Given the description of an element on the screen output the (x, y) to click on. 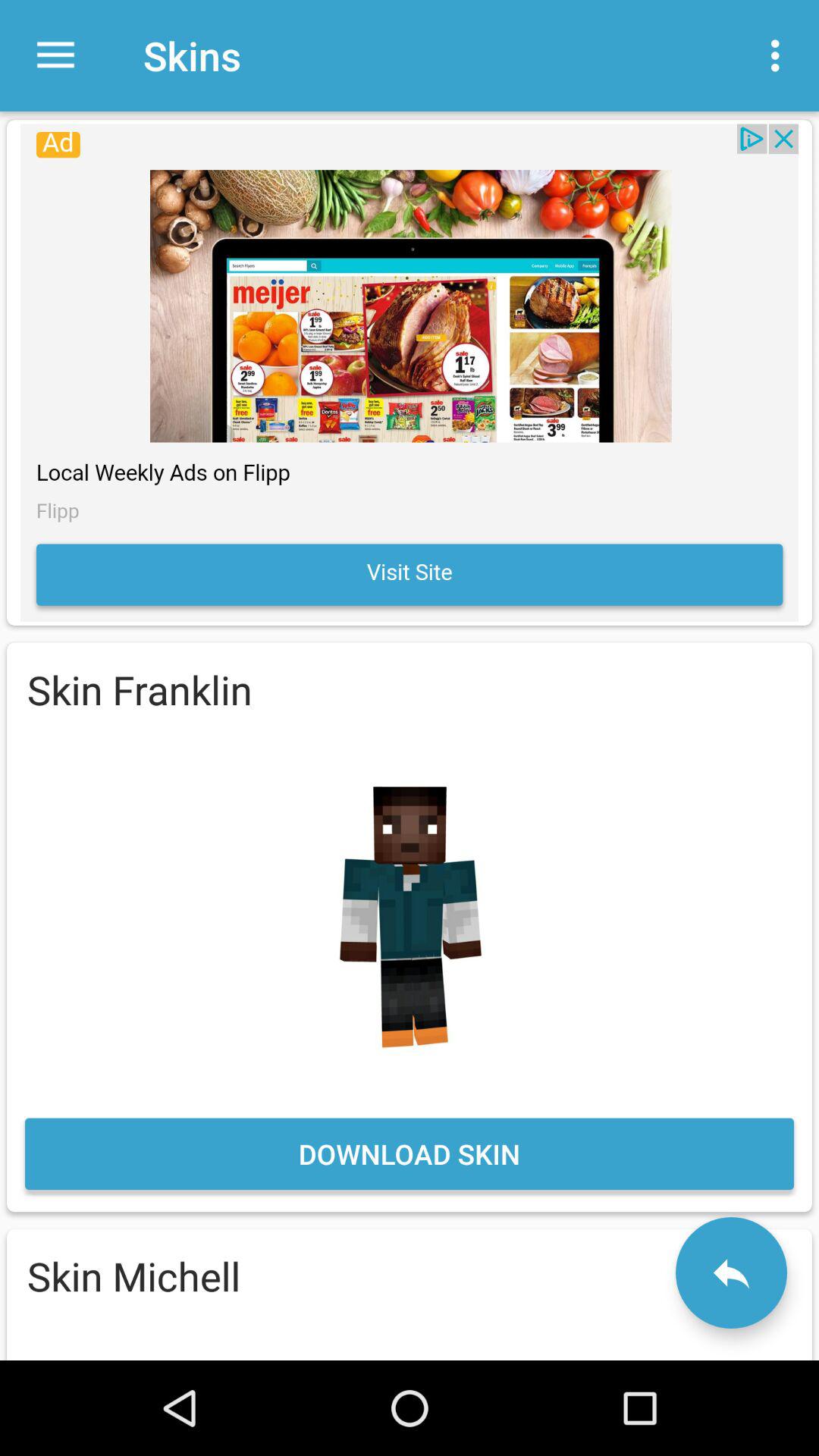
advertisement (409, 372)
